Given the description of an element on the screen output the (x, y) to click on. 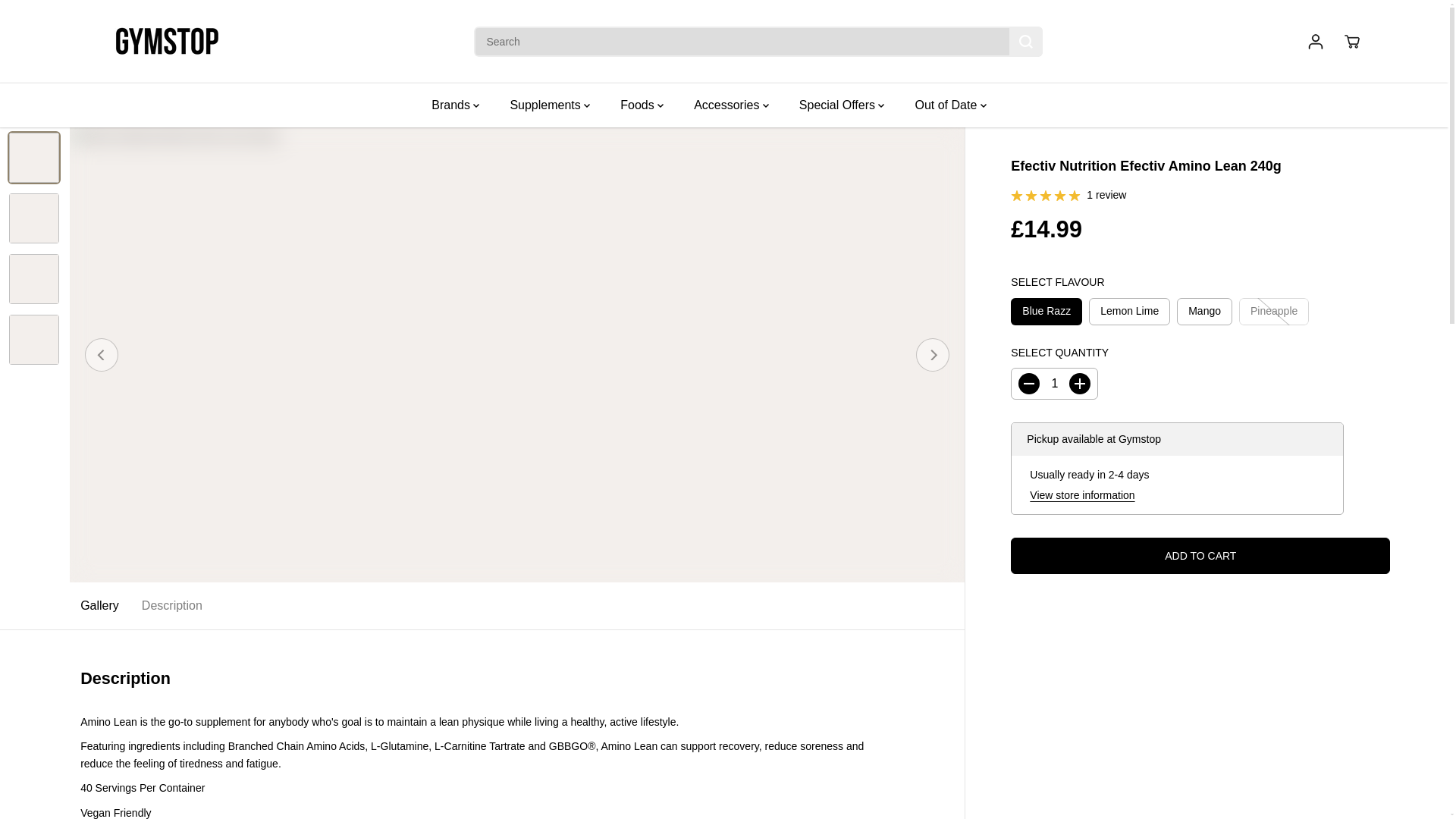
Blue Razz (1045, 311)
Cart (1351, 41)
Log in (1315, 41)
Lemon Lime (1129, 311)
Lemon Lime (1129, 311)
Pineapple (1273, 311)
Mango (1203, 311)
1 (1053, 383)
Mango (1203, 311)
SKIP TO CONTENT (60, 18)
